Given the description of an element on the screen output the (x, y) to click on. 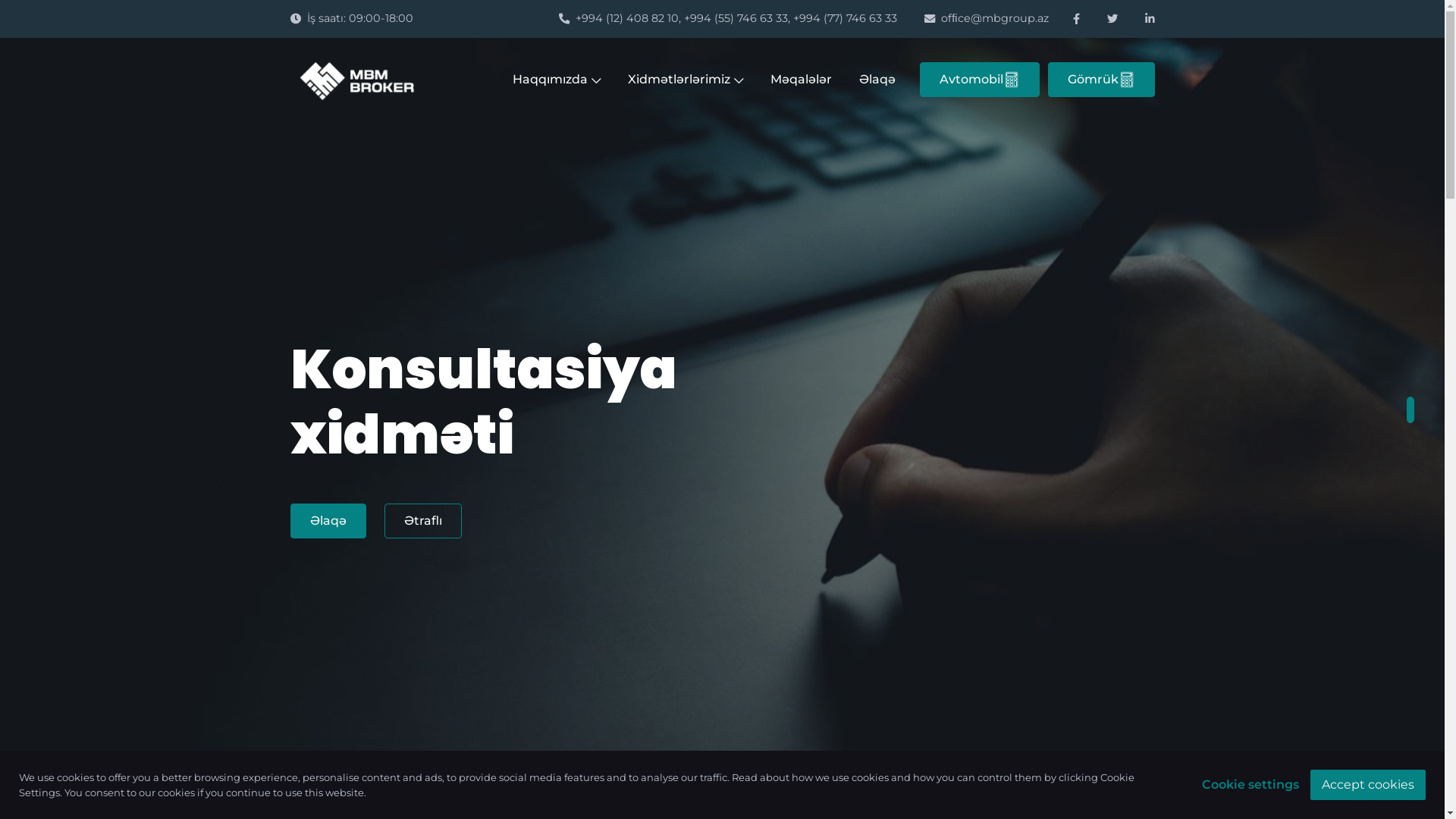
Cookie settings Element type: text (1250, 784)
Avtomobil Element type: text (978, 79)
Accept cookies Element type: text (1367, 784)
